Given the description of an element on the screen output the (x, y) to click on. 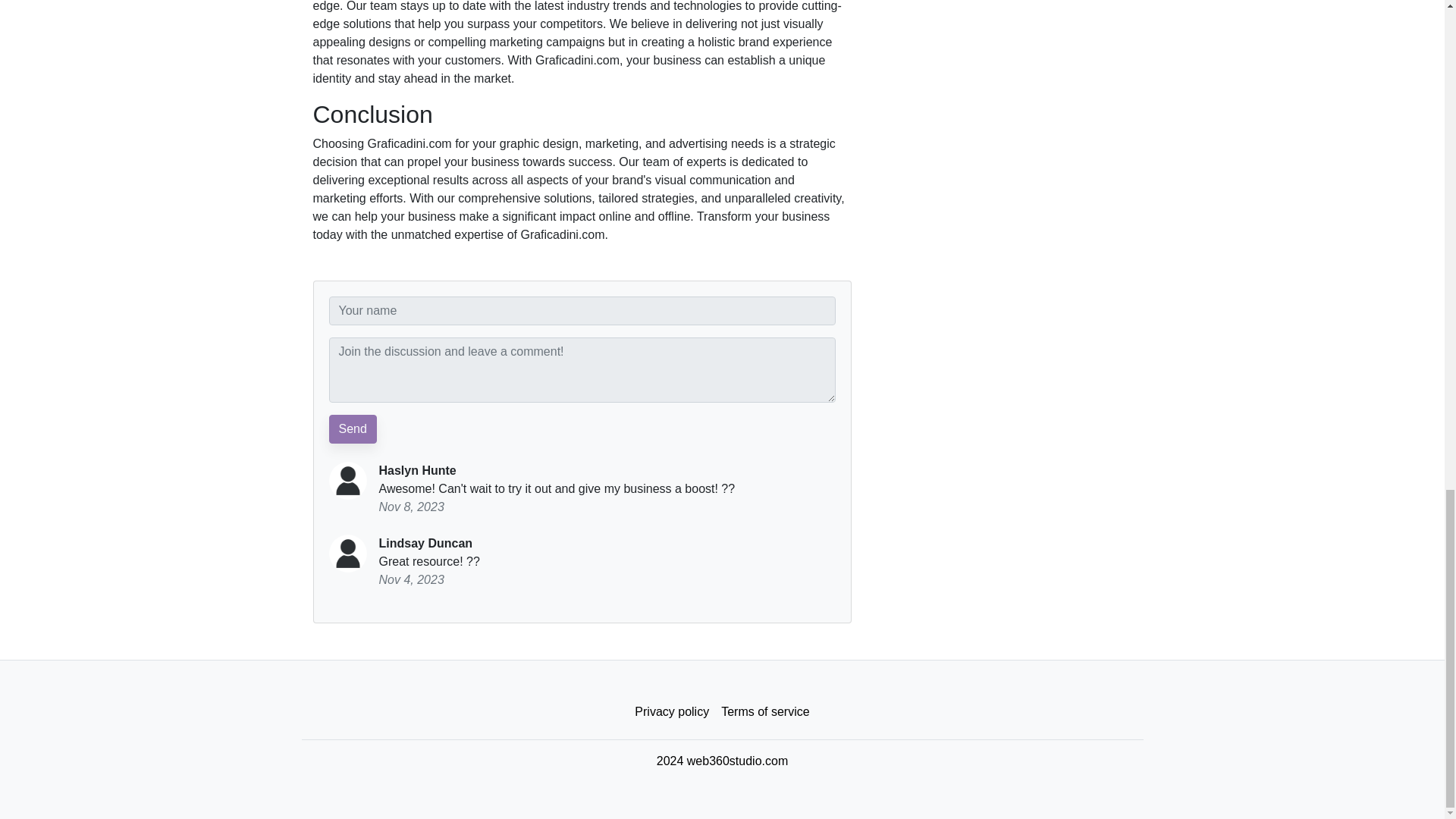
Send (353, 428)
Terms of service (764, 711)
Send (353, 428)
Privacy policy (671, 711)
